Given the description of an element on the screen output the (x, y) to click on. 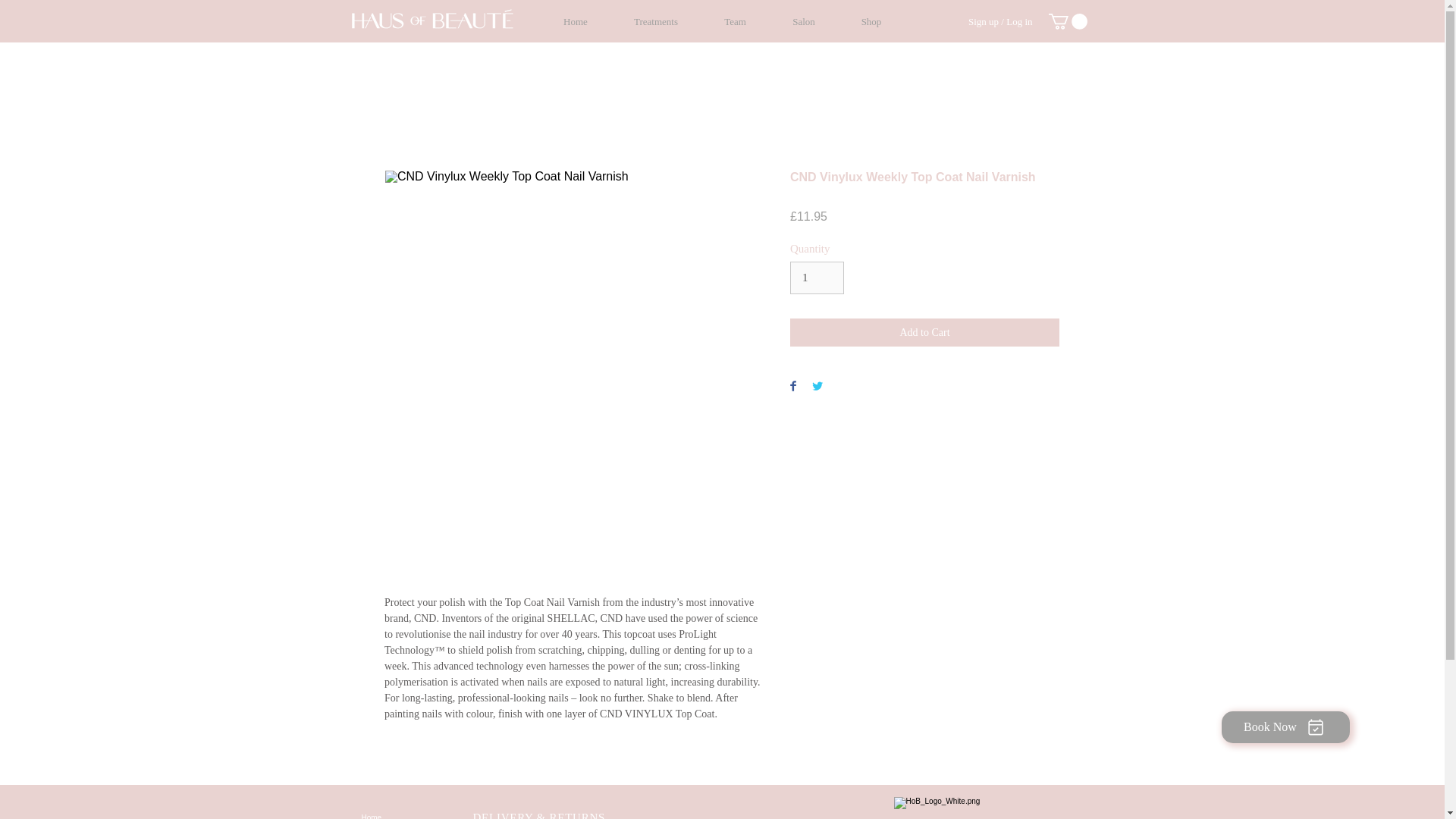
Home (575, 21)
Shop (871, 21)
Salon (803, 21)
Home (422, 813)
Add to Cart (924, 332)
1 (817, 277)
Book Now (1285, 726)
Treatments (656, 21)
Team (734, 21)
